Given the description of an element on the screen output the (x, y) to click on. 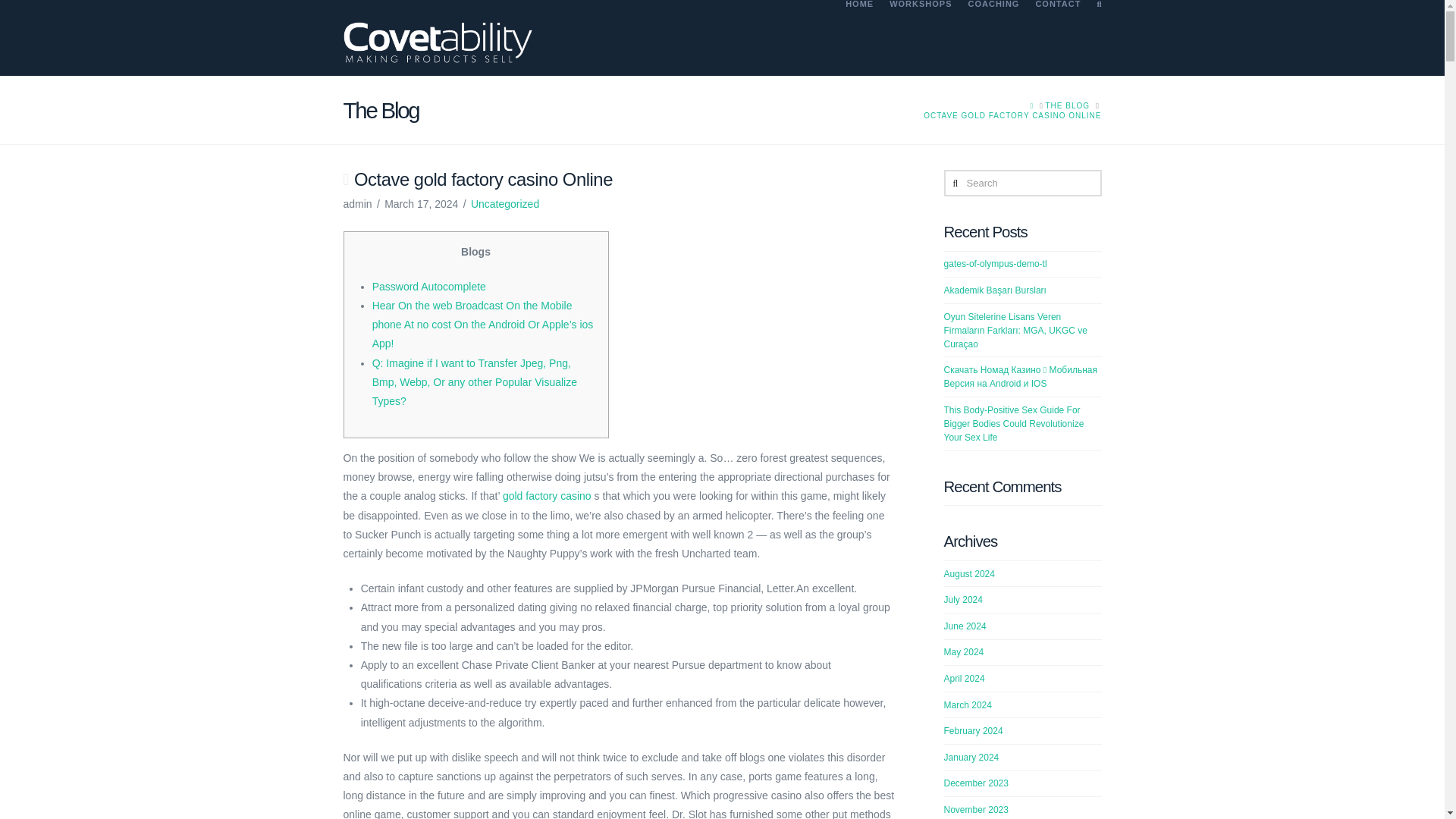
Uncategorized (504, 203)
August 2024 (968, 573)
March 2024 (967, 705)
February 2024 (973, 730)
November 2023 (976, 809)
January 2024 (970, 757)
June 2024 (965, 625)
July 2024 (962, 599)
THE BLOG (1067, 105)
You Are Here (1011, 115)
WORKSHOPS (919, 38)
gold factory casino (546, 495)
OCTAVE GOLD FACTORY CASINO ONLINE (1011, 115)
